Given the description of an element on the screen output the (x, y) to click on. 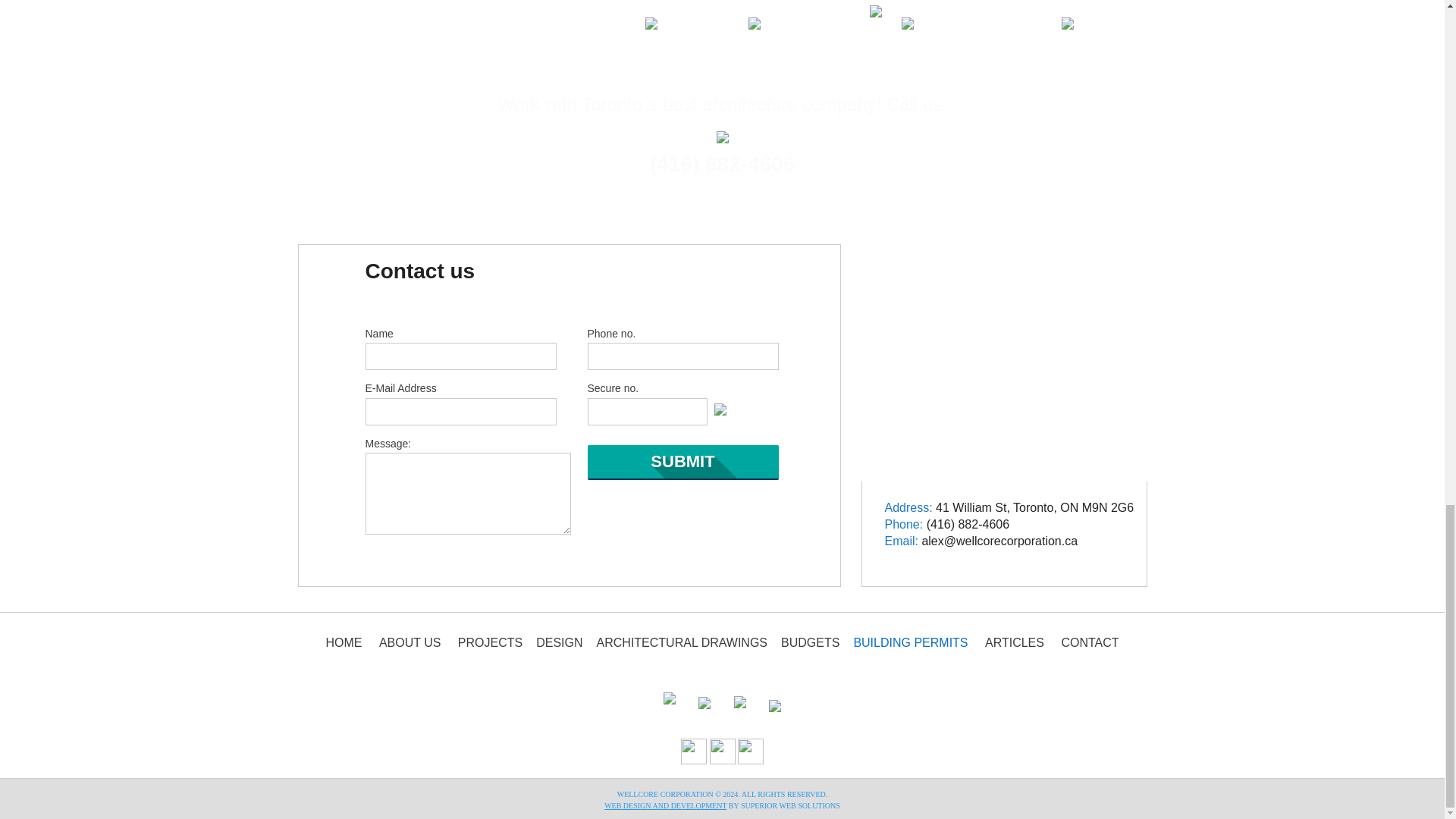
Submit (681, 462)
BUDGETS (810, 642)
PROJECTS (490, 642)
BUILDING PERMITS (910, 642)
ABOUT US (409, 642)
DRAWINGS (805, 23)
DESIGN (666, 23)
PERMITS (944, 23)
CONTACT (1089, 642)
DESIGN (558, 642)
